Given the description of an element on the screen output the (x, y) to click on. 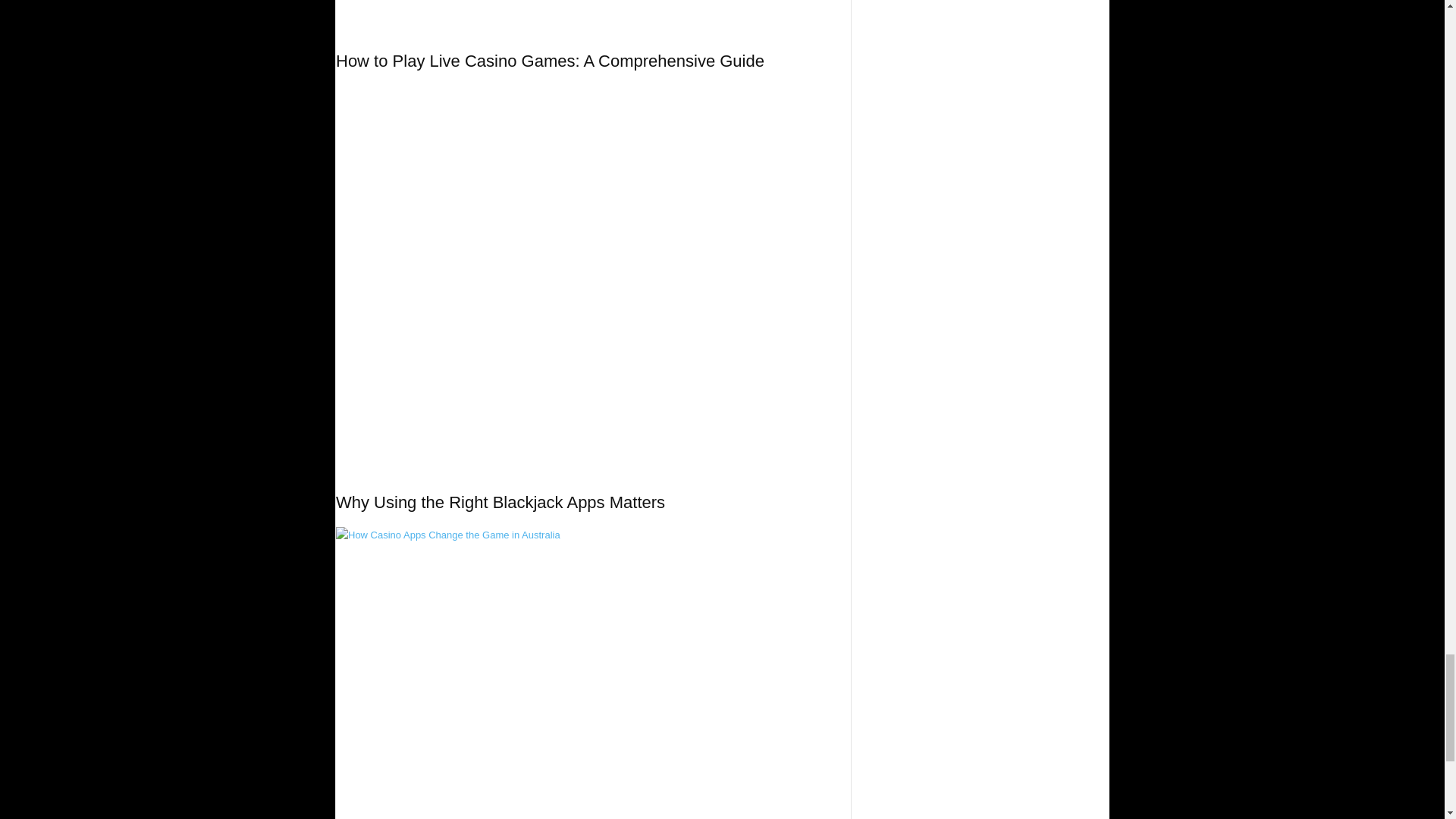
Why Using the Right Blackjack Apps Matters (500, 502)
How to Play Live Casino Games: A Comprehensive Guide (550, 60)
How to Play Live Casino Games: A Comprehensive Guide (593, 15)
